Given the description of an element on the screen output the (x, y) to click on. 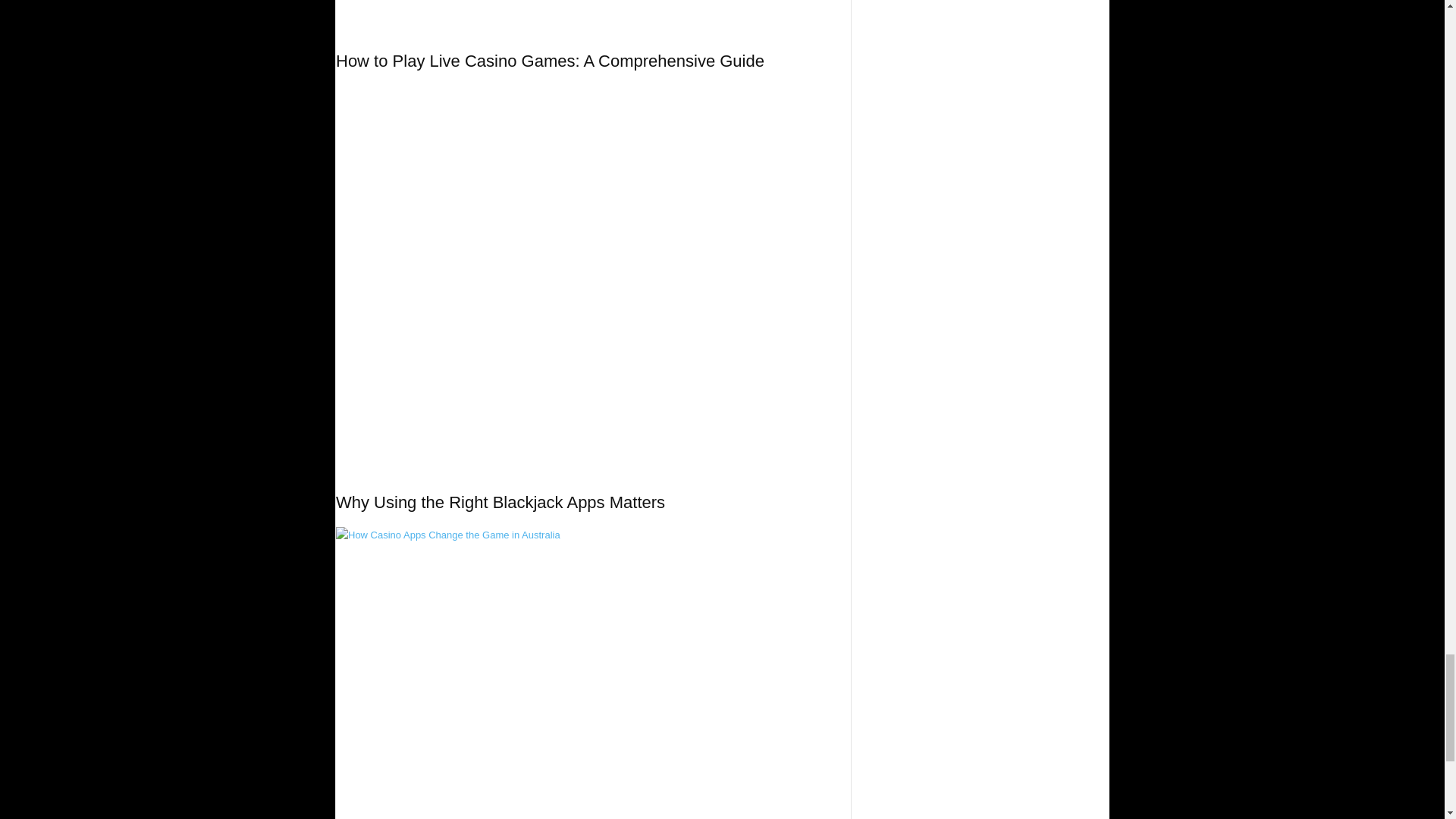
Why Using the Right Blackjack Apps Matters (500, 502)
How to Play Live Casino Games: A Comprehensive Guide (550, 60)
How to Play Live Casino Games: A Comprehensive Guide (593, 15)
